Given the description of an element on the screen output the (x, y) to click on. 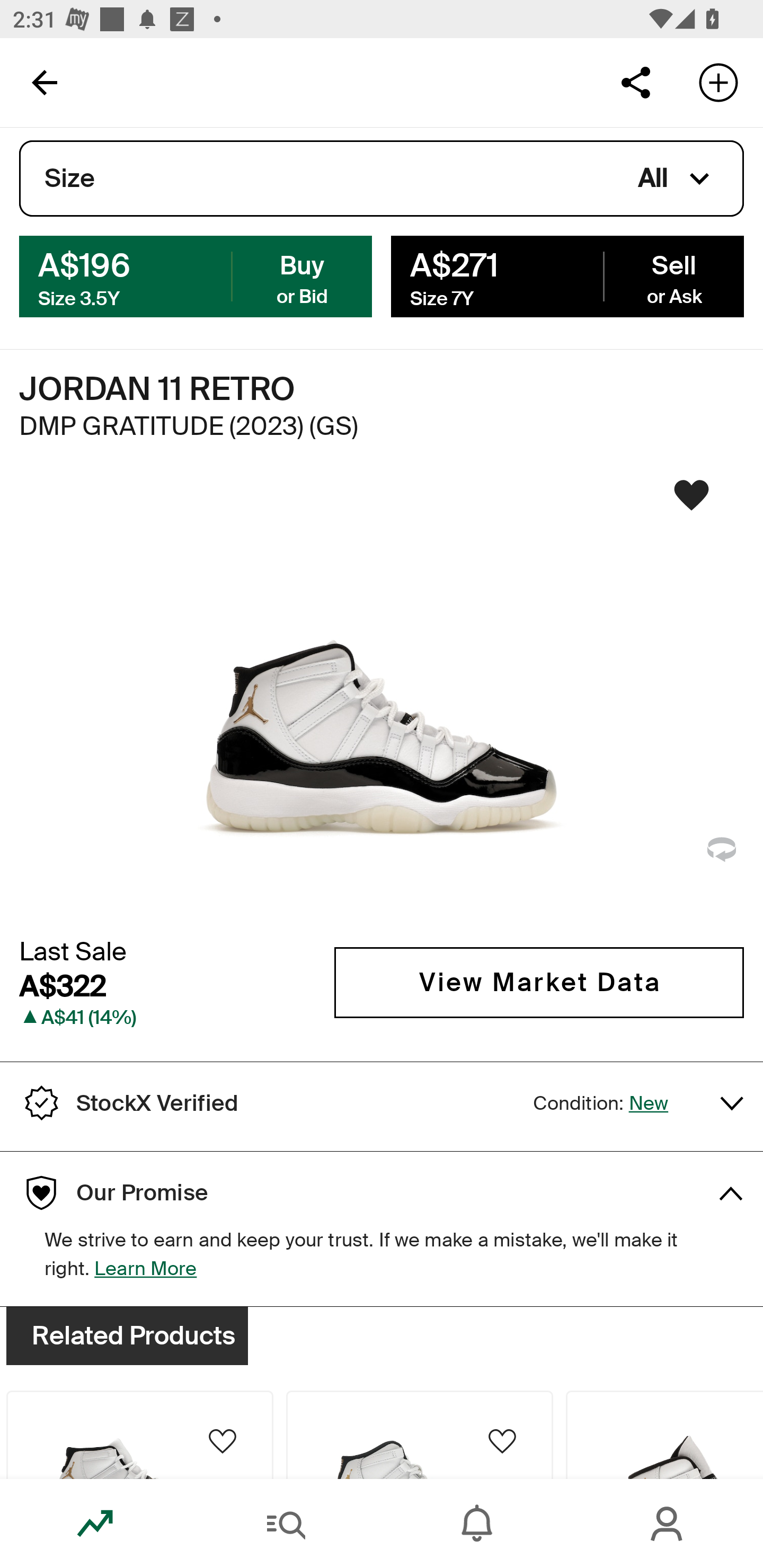
Share (635, 81)
Add (718, 81)
Size All (381, 178)
A$306 Buy Size 7 or Bid (195, 275)
A$437 Sell Size 15 or Ask (566, 275)
Sneaker Image (381, 699)
View Market Data (538, 982)
Search (285, 1523)
Inbox (476, 1523)
Account (667, 1523)
